Given the description of an element on the screen output the (x, y) to click on. 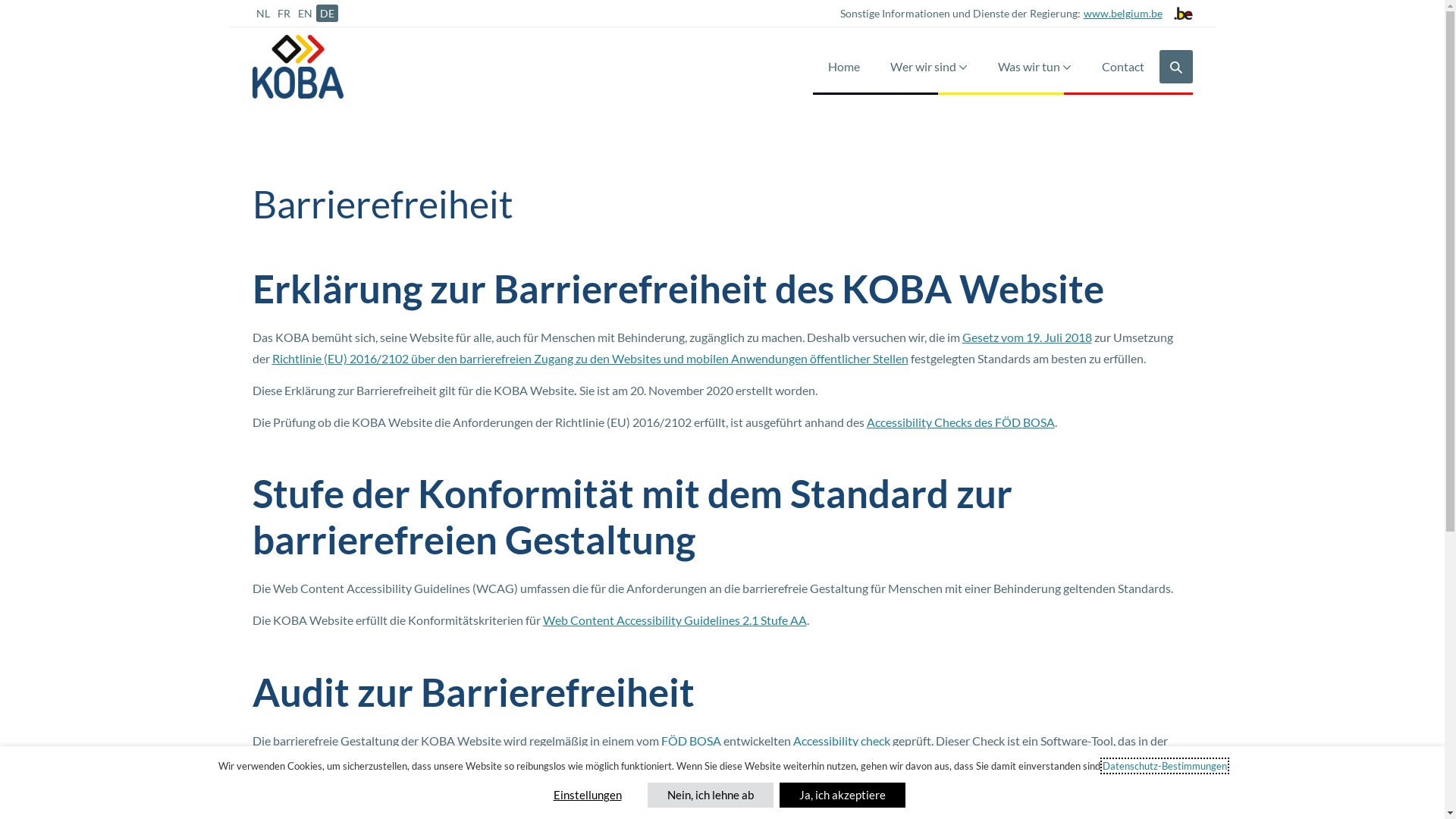
Logo Koba Element type: hover (296, 66)
Accessibility check Element type: text (841, 740)
DE Element type: text (326, 13)
Suche-Schalter Element type: text (1175, 66)
Einstellungen Element type: text (587, 794)
Gesetz vom 19. Juli 2018 Element type: text (1026, 336)
Nein, ich lehne ab Element type: text (710, 794)
FR Element type: text (283, 13)
Datenschutz-Bestimmungen Element type: text (1164, 765)
EN Element type: text (305, 13)
Wer wir sind Element type: text (928, 66)
Web Content Accessibility Guidelines 2.1 Stufe AA Element type: text (674, 619)
NL Element type: text (262, 13)
Was wir tun Element type: text (1034, 66)
www.belgium.be Element type: text (1120, 13)
Ja, ich akzeptiere Element type: text (842, 794)
Contact Element type: text (1121, 66)
Home Element type: text (843, 66)
